Given the description of an element on the screen output the (x, y) to click on. 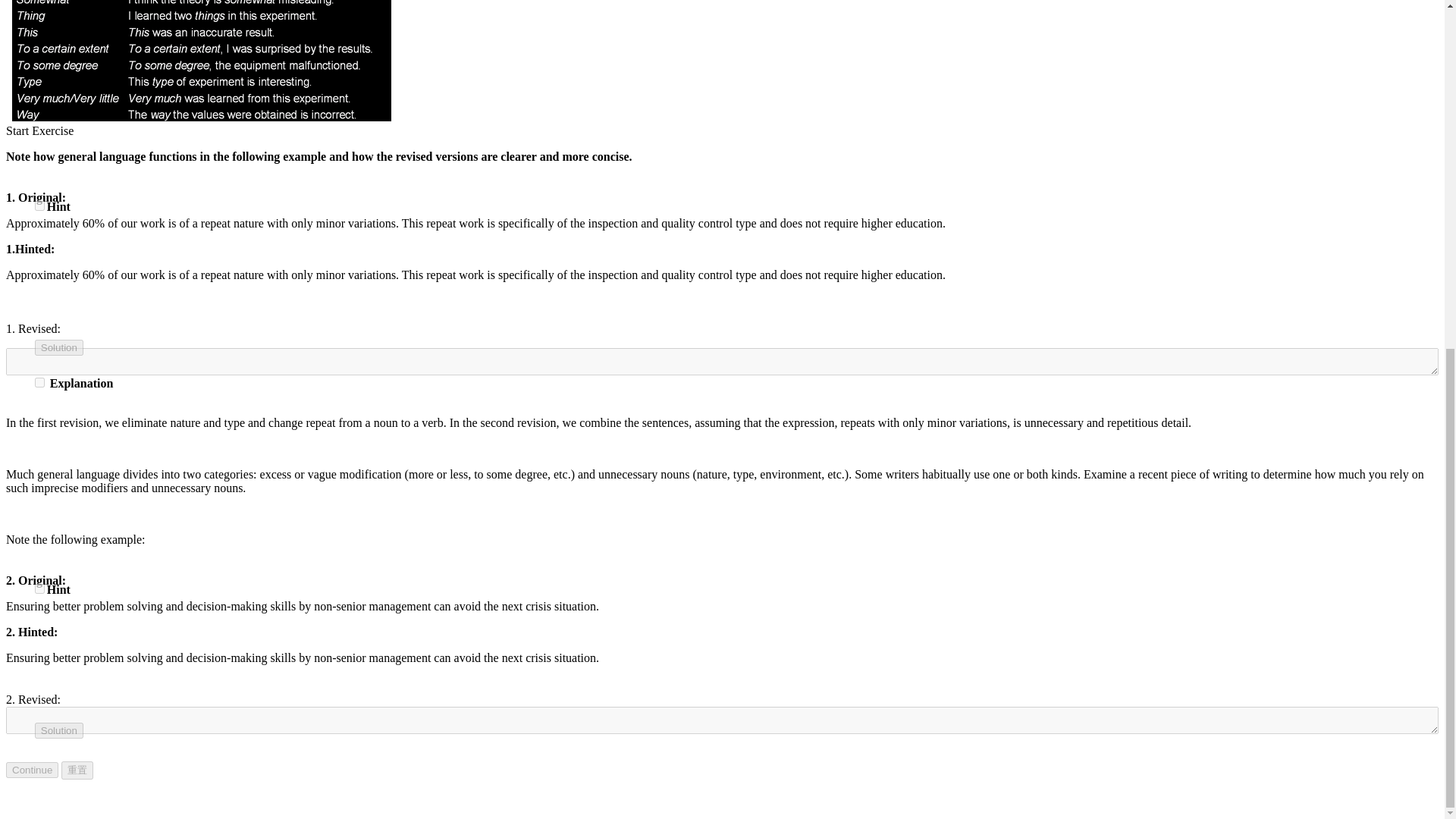
Solution (58, 730)
1 (39, 588)
Continue (31, 770)
Solution (58, 347)
1 (39, 382)
1 (39, 205)
Continue (31, 770)
